Given the description of an element on the screen output the (x, y) to click on. 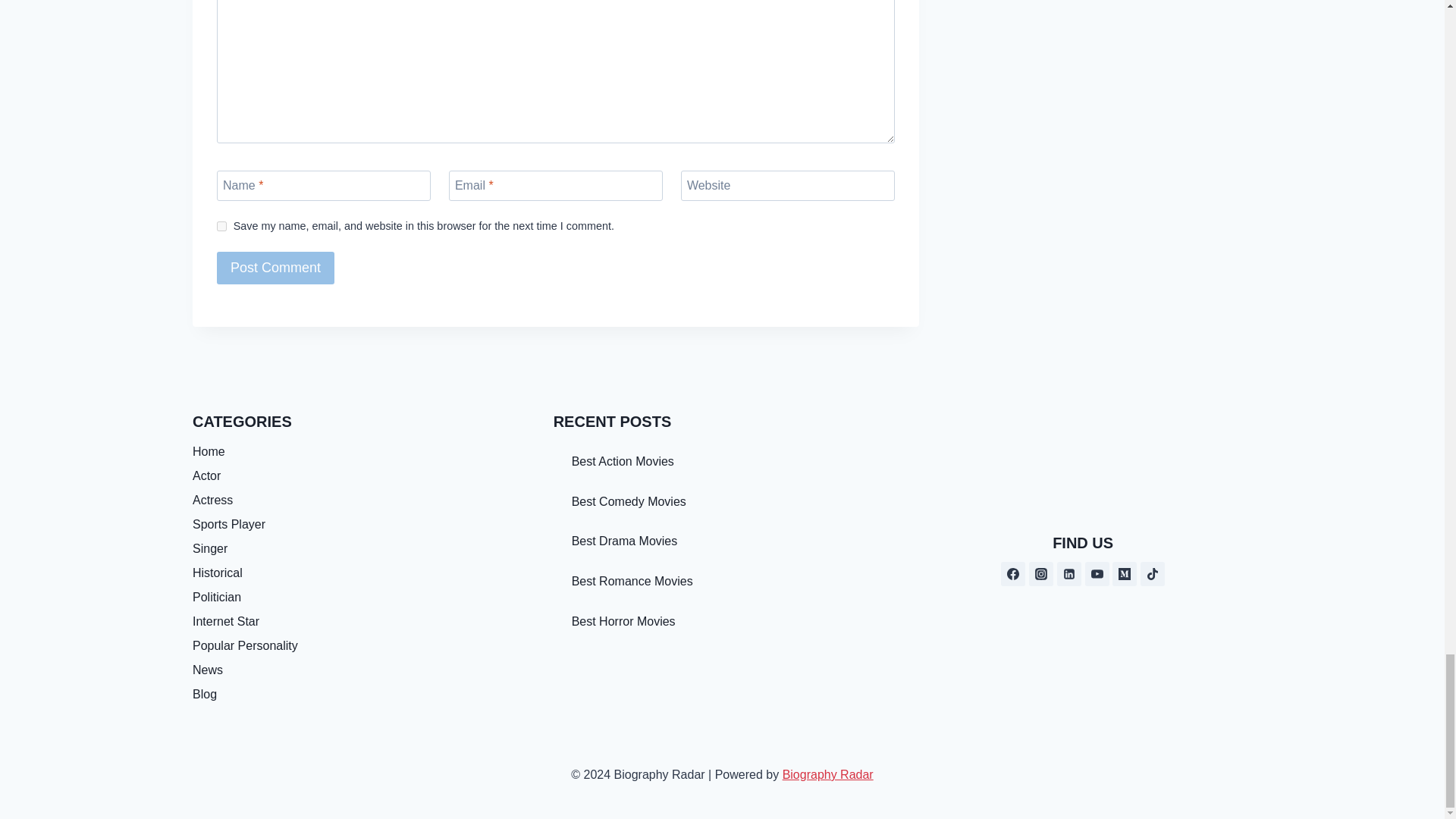
Post Comment (275, 267)
yes (221, 225)
